Given the description of an element on the screen output the (x, y) to click on. 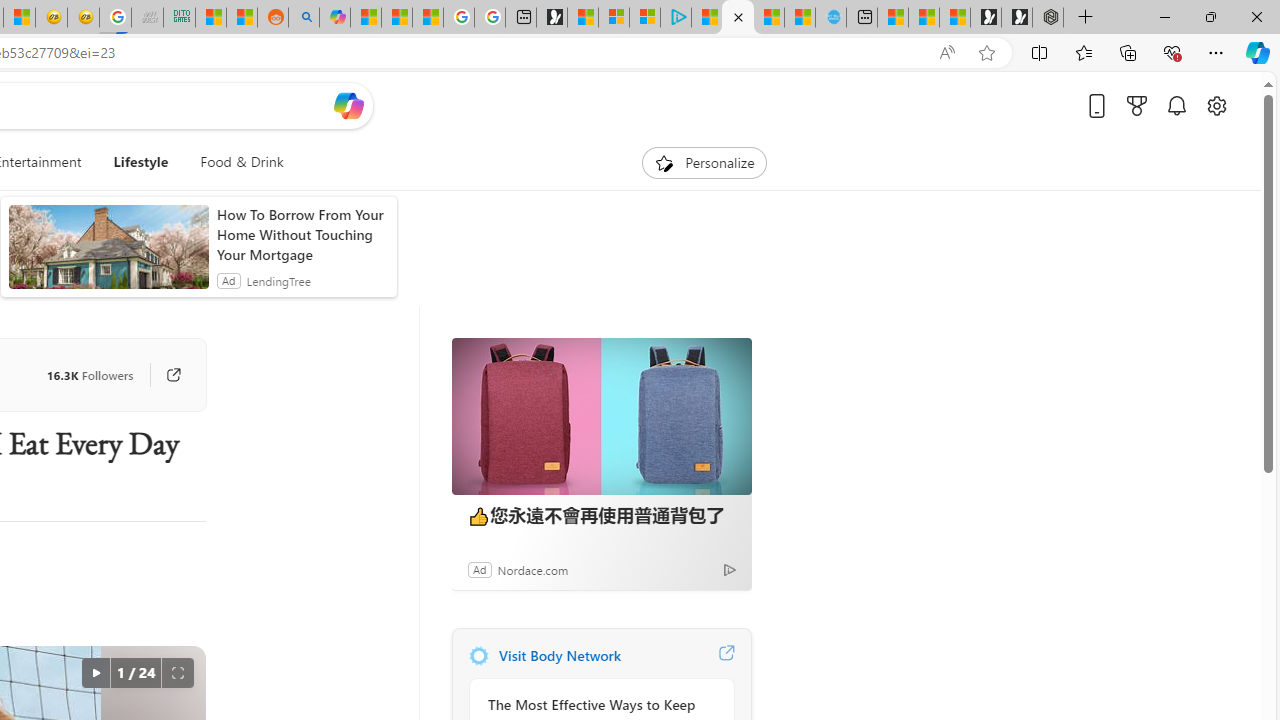
Microsoft Copilot in Bing (334, 17)
